Given the description of an element on the screen output the (x, y) to click on. 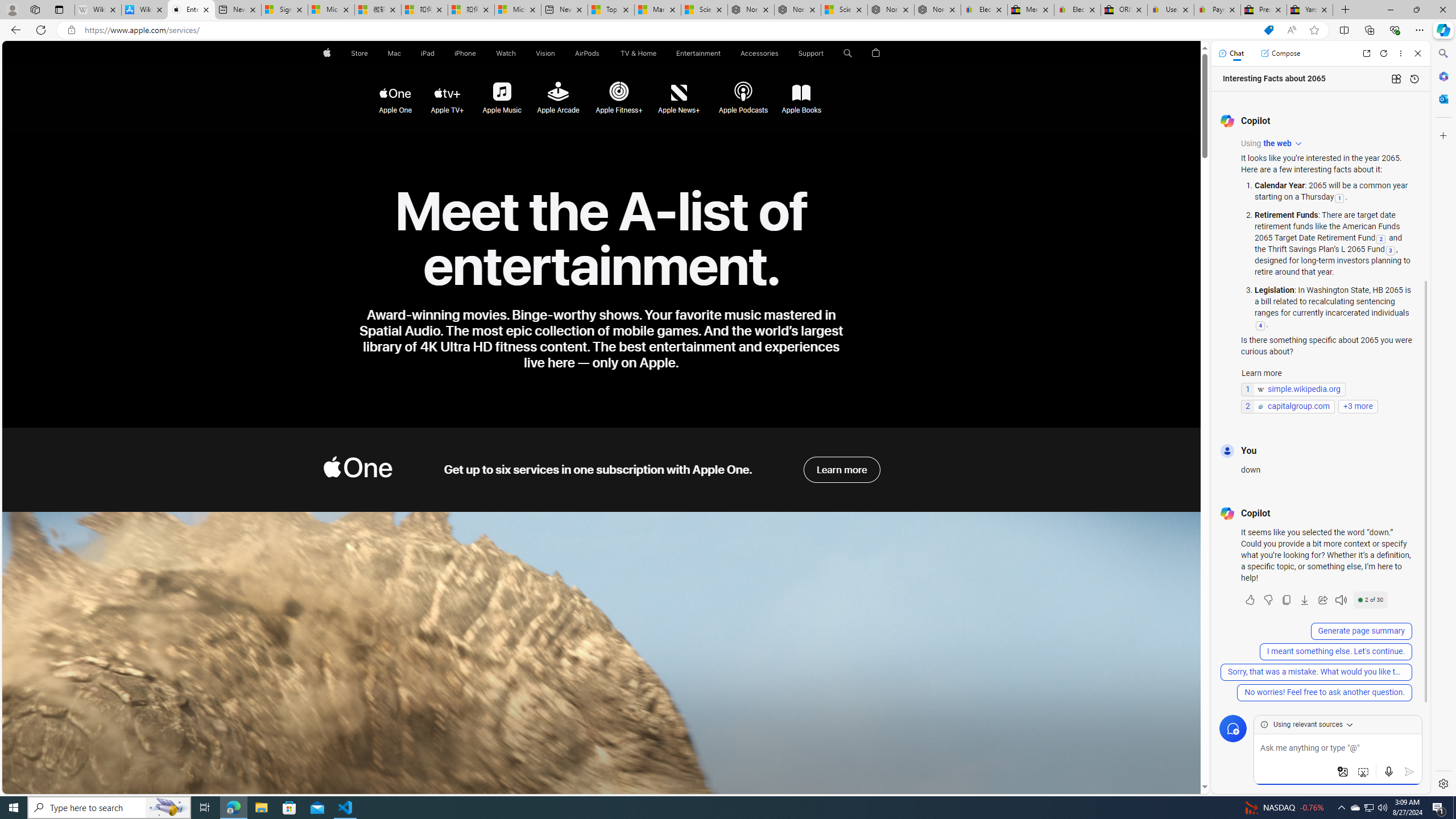
Apple (325, 53)
Apple TV+ (448, 92)
Entertainment - Services - Apple (191, 9)
Apple TV+ (447, 93)
Apple Books (800, 92)
